Given the description of an element on the screen output the (x, y) to click on. 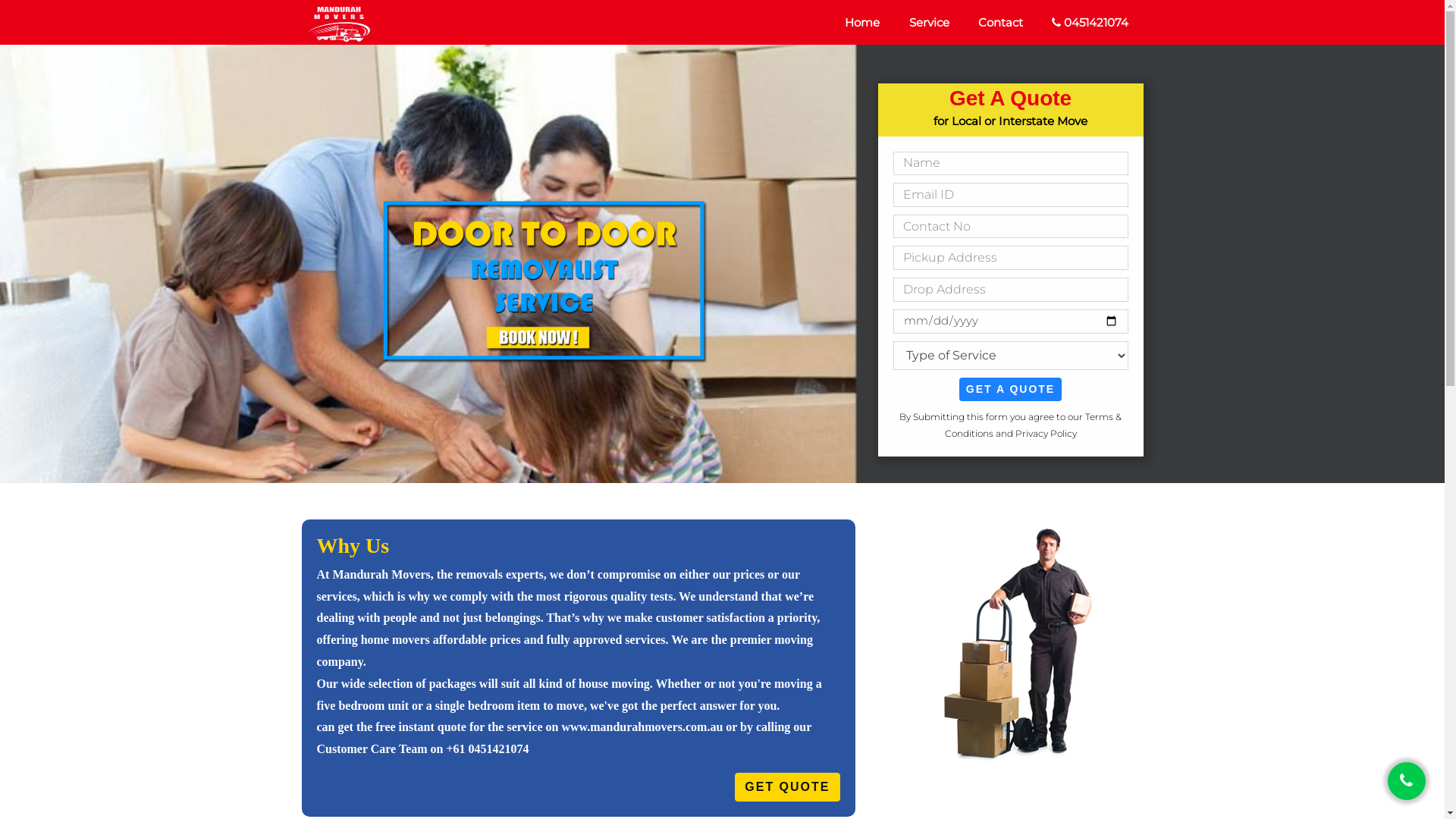
GET QUOTE Element type: text (786, 786)
Contact Element type: text (1000, 22)
Call:0451421074 Element type: hover (1406, 780)
GET A QUOTE Element type: text (1010, 389)
Home Element type: text (862, 22)
0451421074 Element type: text (1089, 22)
Service Element type: text (928, 22)
